Given the description of an element on the screen output the (x, y) to click on. 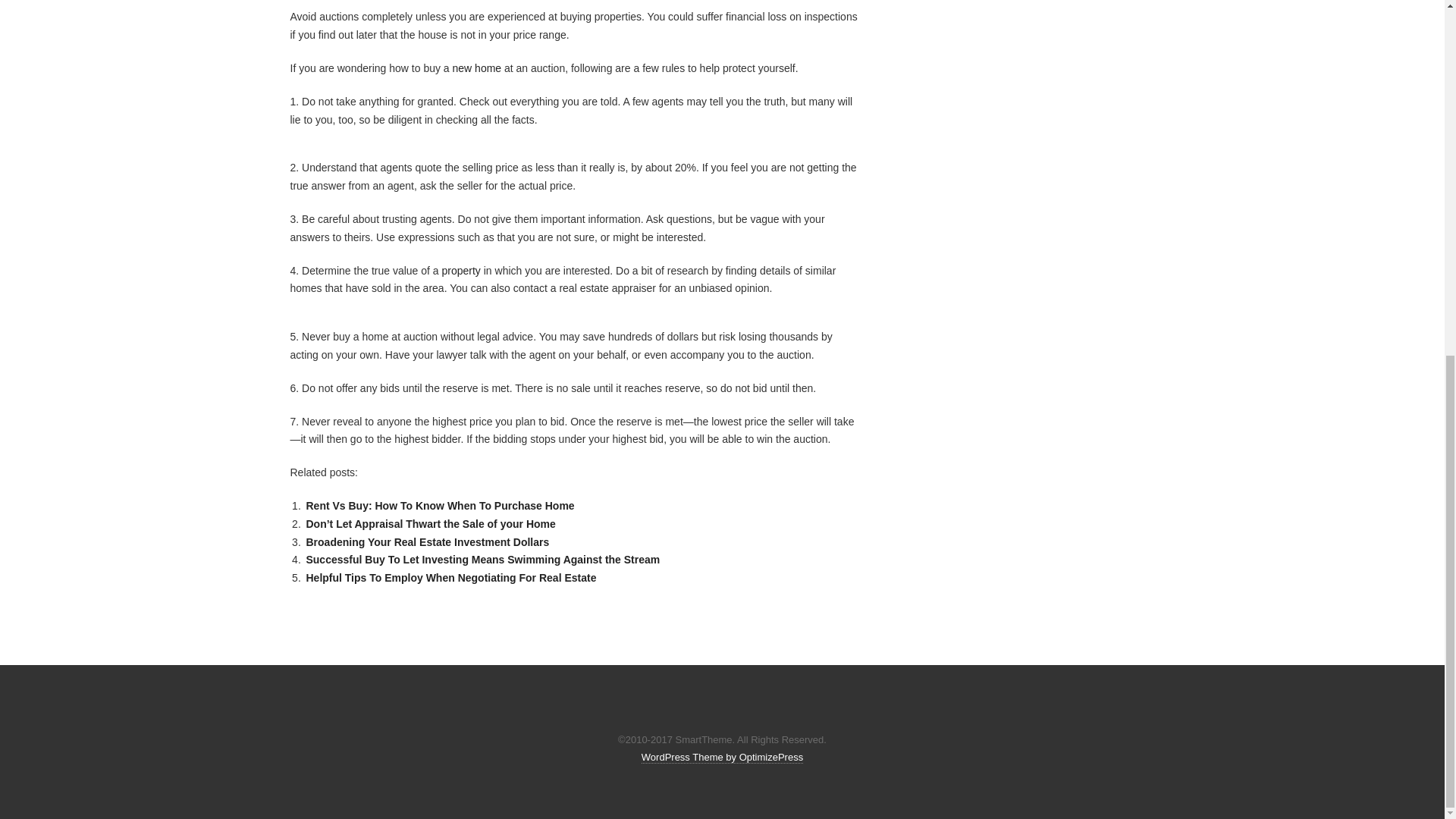
Broadening Your Real Estate Investment Dollars (426, 541)
Rent Vs Buy: How To Know When To Purchase Home (439, 505)
Rent Vs Buy: How To Know When To Purchase Home (439, 505)
WordPress Theme by OptimizePress (722, 757)
Helpful Tips To Employ When Negotiating For Real Estate (450, 577)
property (460, 270)
Helpful Tips To Employ When Negotiating For Real Estate (450, 577)
new home (477, 68)
Broadening Your Real Estate Investment Dollars (426, 541)
